Given the description of an element on the screen output the (x, y) to click on. 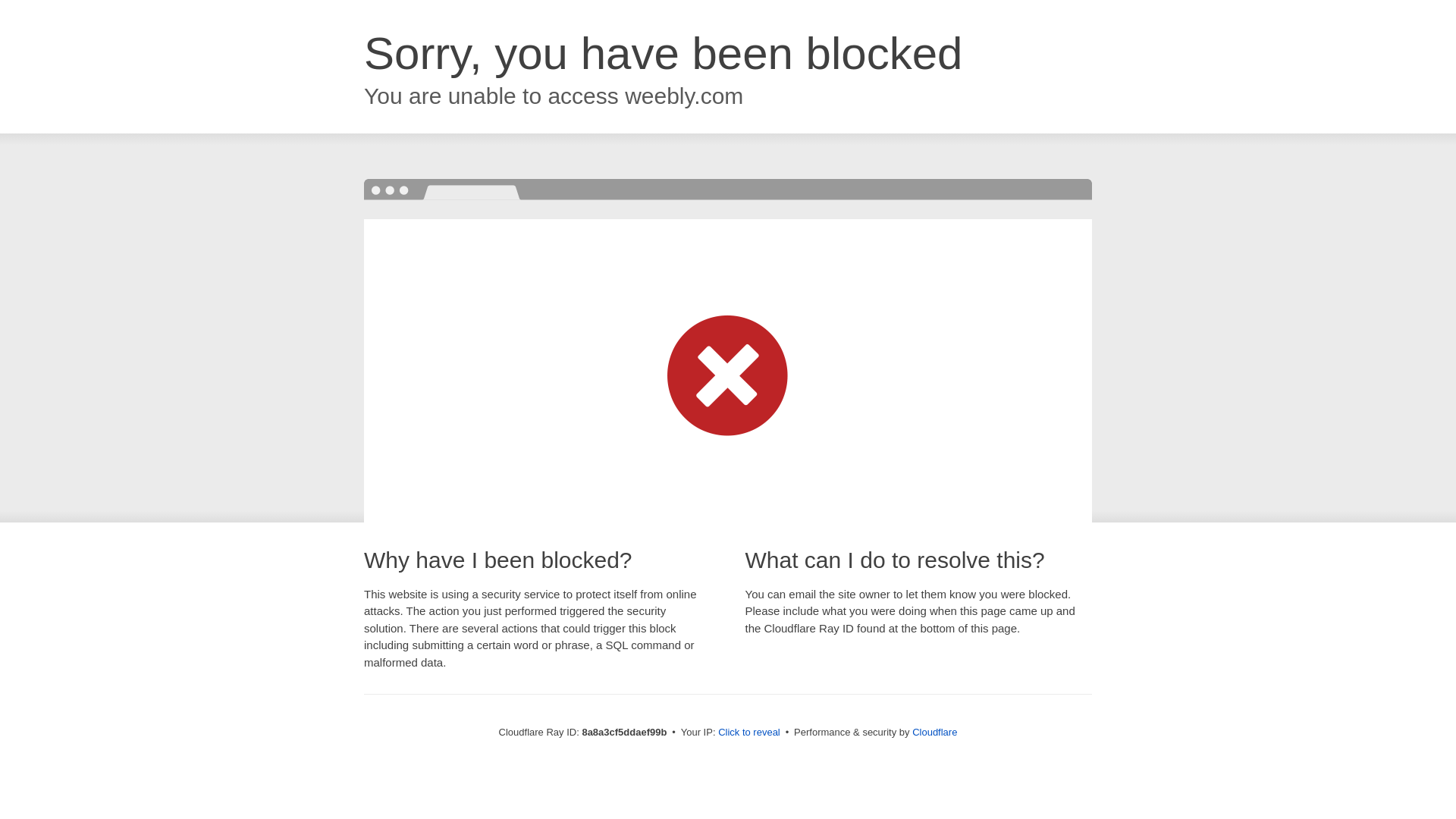
Click to reveal (748, 732)
Cloudflare (934, 731)
